Given the description of an element on the screen output the (x, y) to click on. 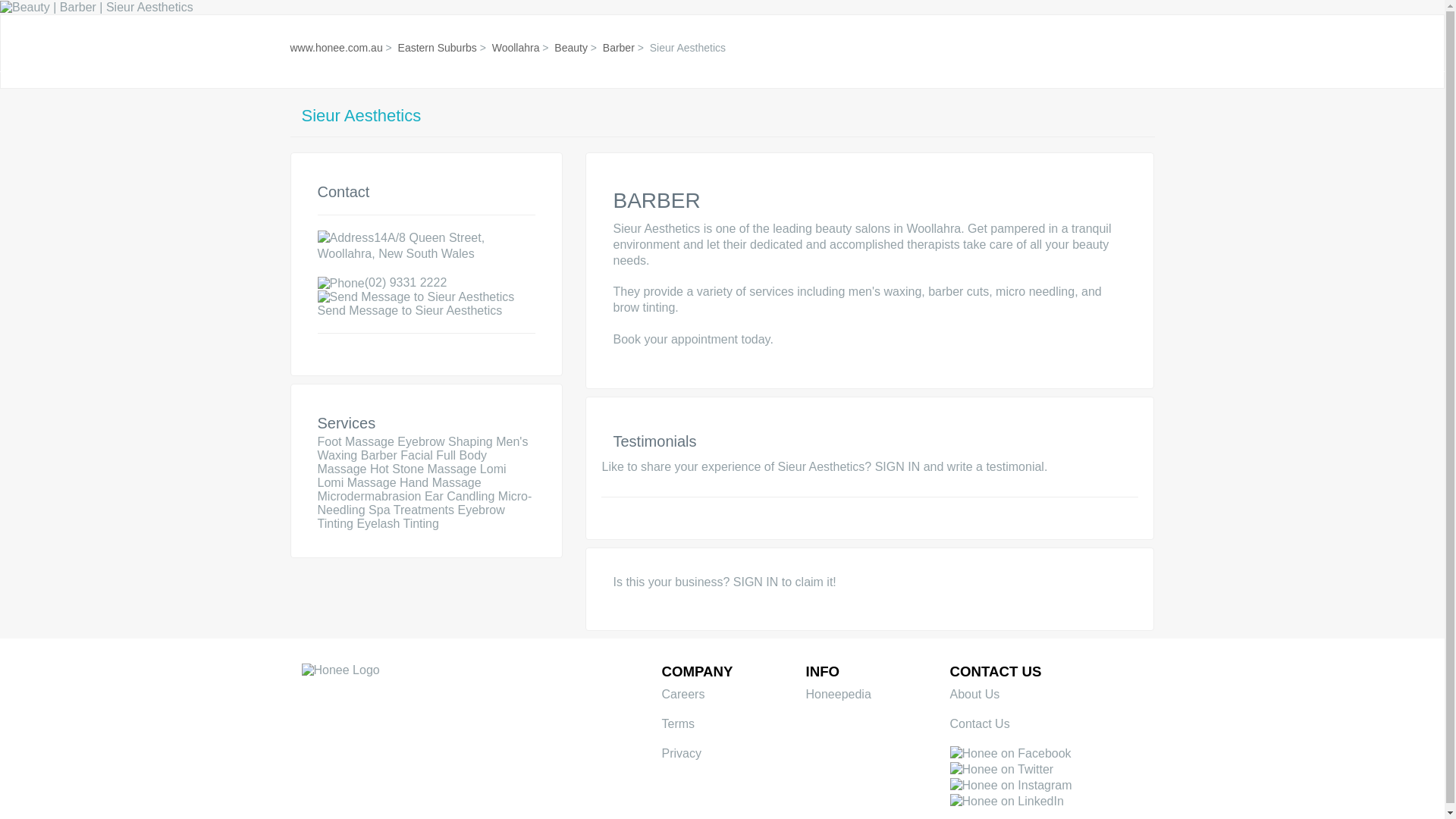
SPA (870, 32)
NAILS (694, 32)
HAIRDRESSER (785, 32)
BEAUTY (622, 32)
Address (345, 238)
Honee on Instagram (1010, 785)
Phone (340, 283)
Honee on LinkedIn (1005, 801)
Send Message to Sieur Aesthetics (415, 296)
Honee on Facebook (1009, 754)
Honee on Twitter (1000, 770)
Honee Logo (340, 670)
MASSAGE (942, 32)
